Given the description of an element on the screen output the (x, y) to click on. 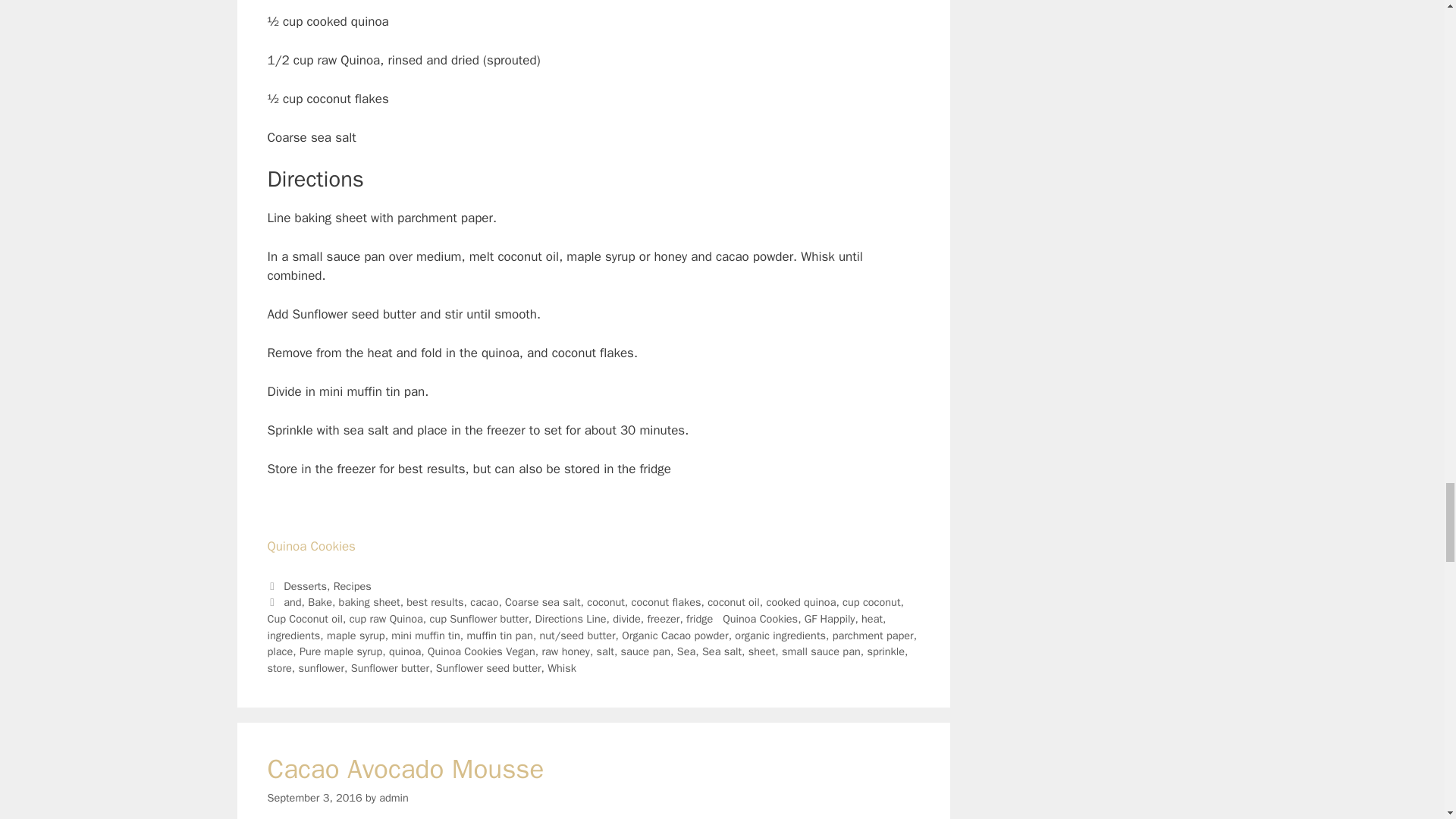
View all posts by admin (393, 797)
